Given the description of an element on the screen output the (x, y) to click on. 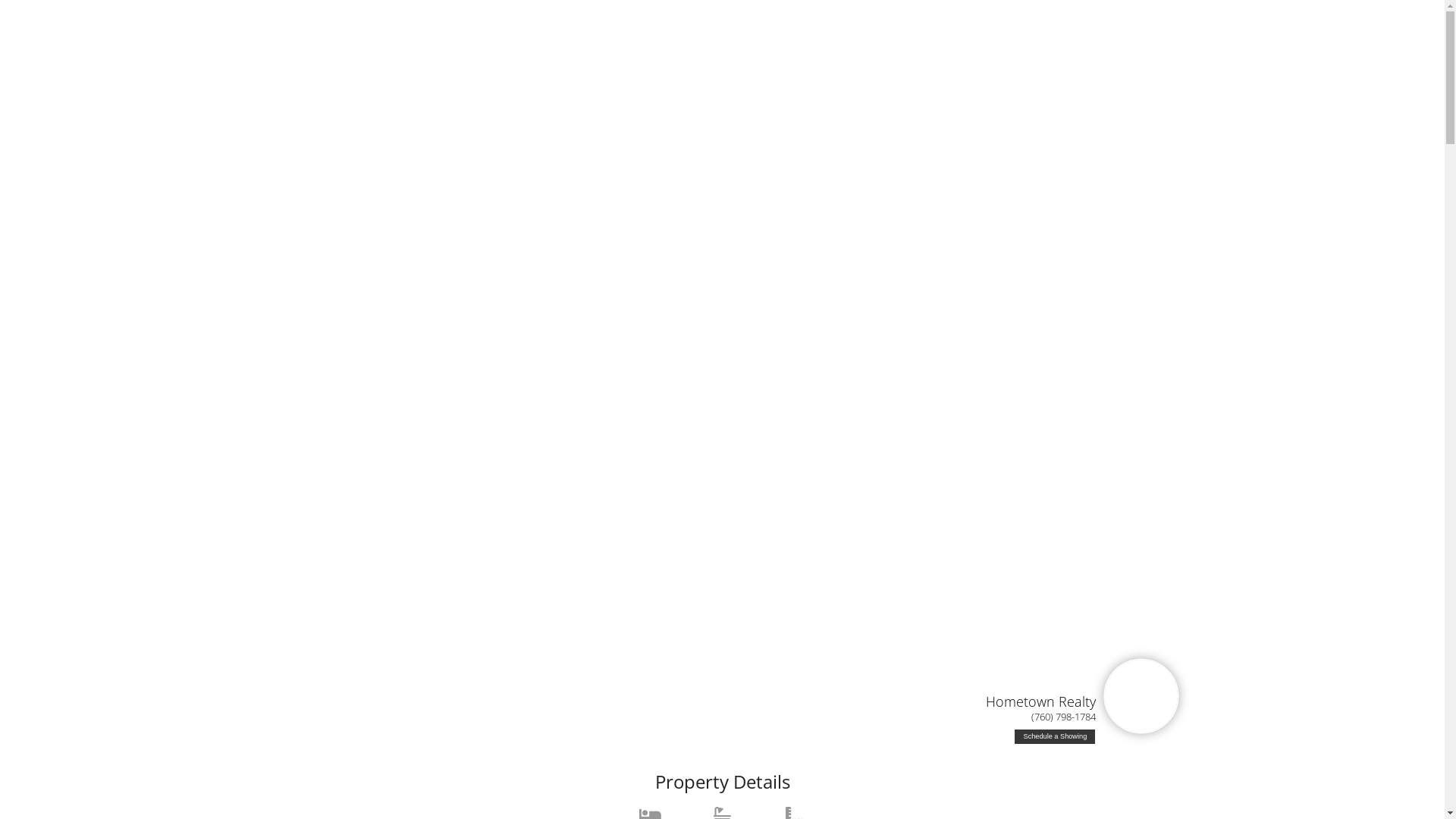
Schedule a Showing Element type: text (1054, 736)
Hometown Realty Element type: text (1040, 700)
